Given the description of an element on the screen output the (x, y) to click on. 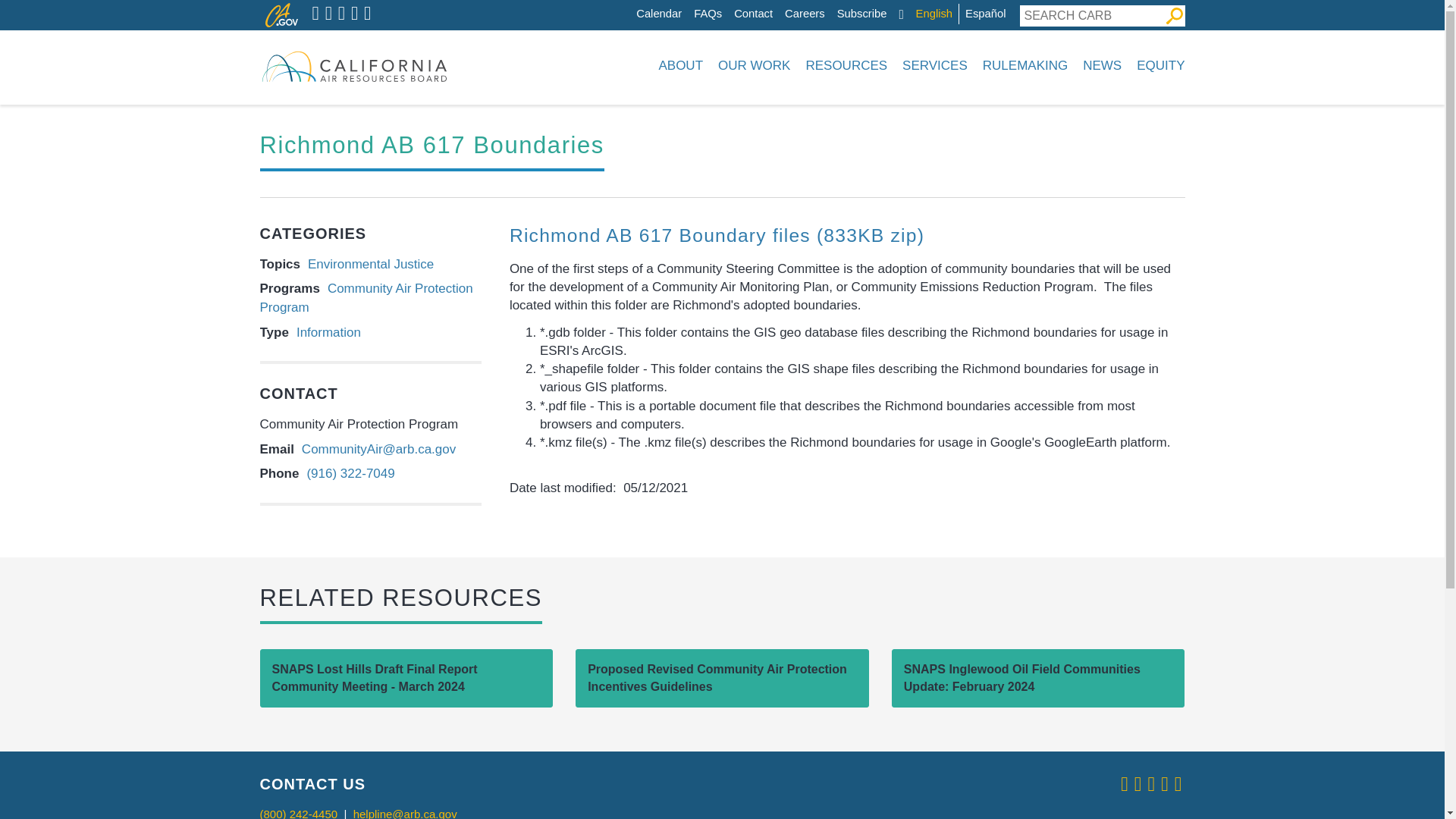
ABOUT (680, 65)
English (933, 14)
Skip to main content (639, 4)
Home (353, 65)
RESOURCES (846, 65)
EQUITY (1157, 65)
Search (1174, 15)
Contact (753, 14)
Calendar (658, 14)
Careers (804, 14)
Enter the terms you wish to search for. (1091, 15)
Search (1174, 15)
NEWS (1102, 65)
SERVICES (935, 65)
Subscribe (861, 14)
